Given the description of an element on the screen output the (x, y) to click on. 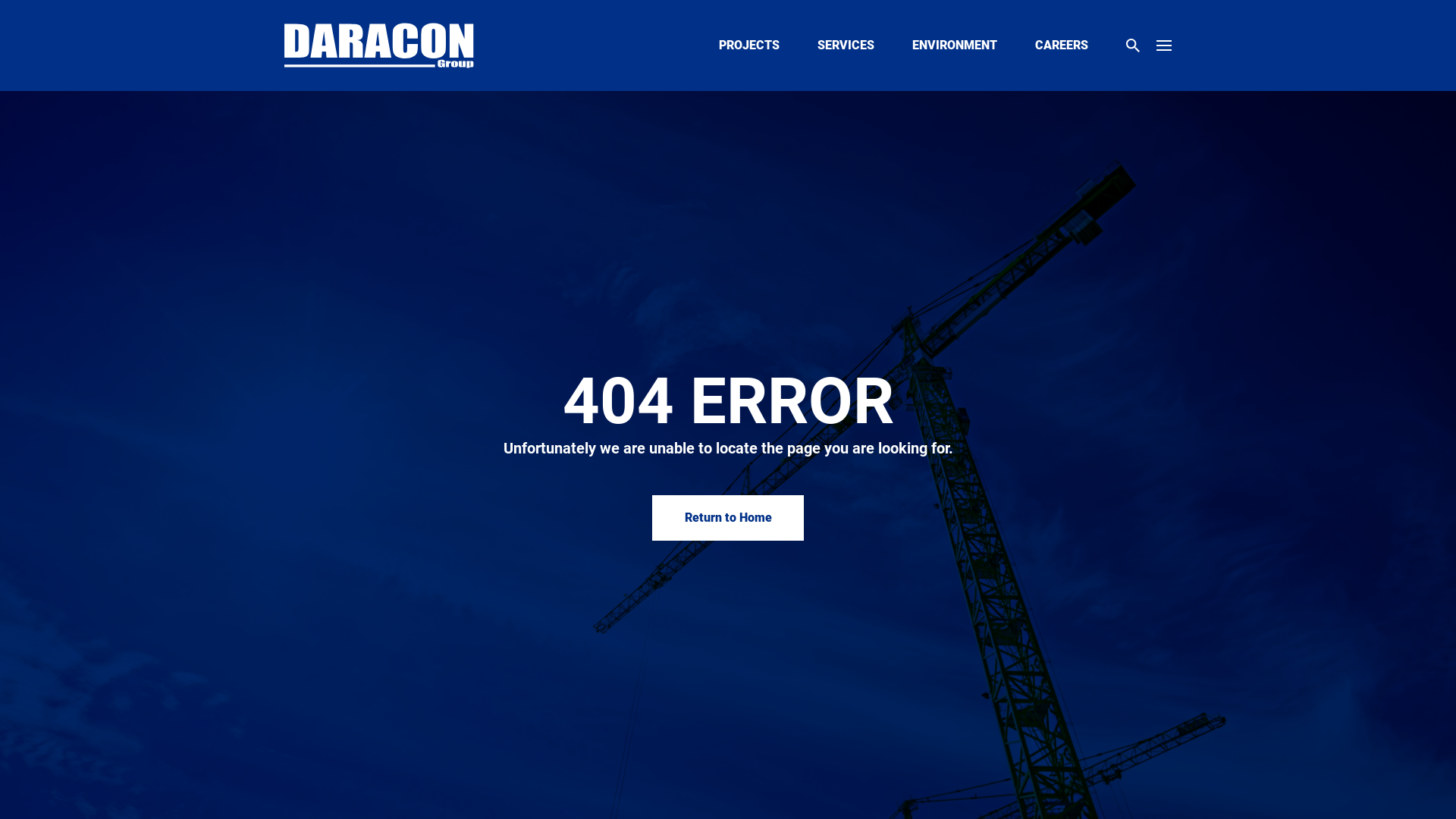
SERVICES Element type: text (845, 44)
CAREERS Element type: text (1061, 44)
PROJECTS Element type: text (748, 44)
Return to Home Element type: text (727, 517)
ENVIRONMENT Element type: text (954, 44)
